Given the description of an element on the screen output the (x, y) to click on. 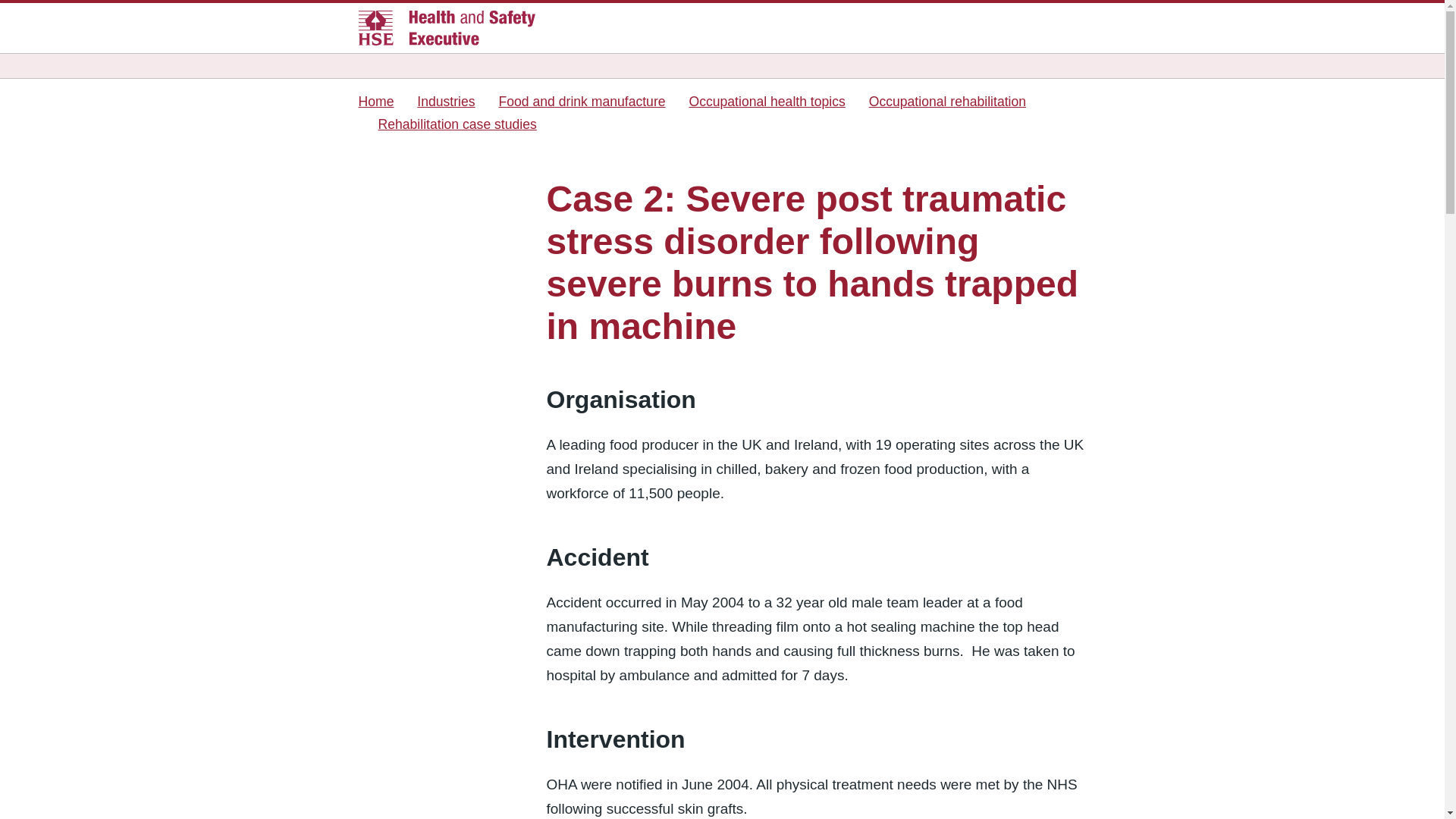
Occupational rehabilitation (947, 101)
Home (375, 101)
Occupational health topics (766, 101)
Food and drink manufacture (582, 101)
Rehabilitation case studies (456, 124)
Skip to content (30, 9)
Industries (445, 101)
